Given the description of an element on the screen output the (x, y) to click on. 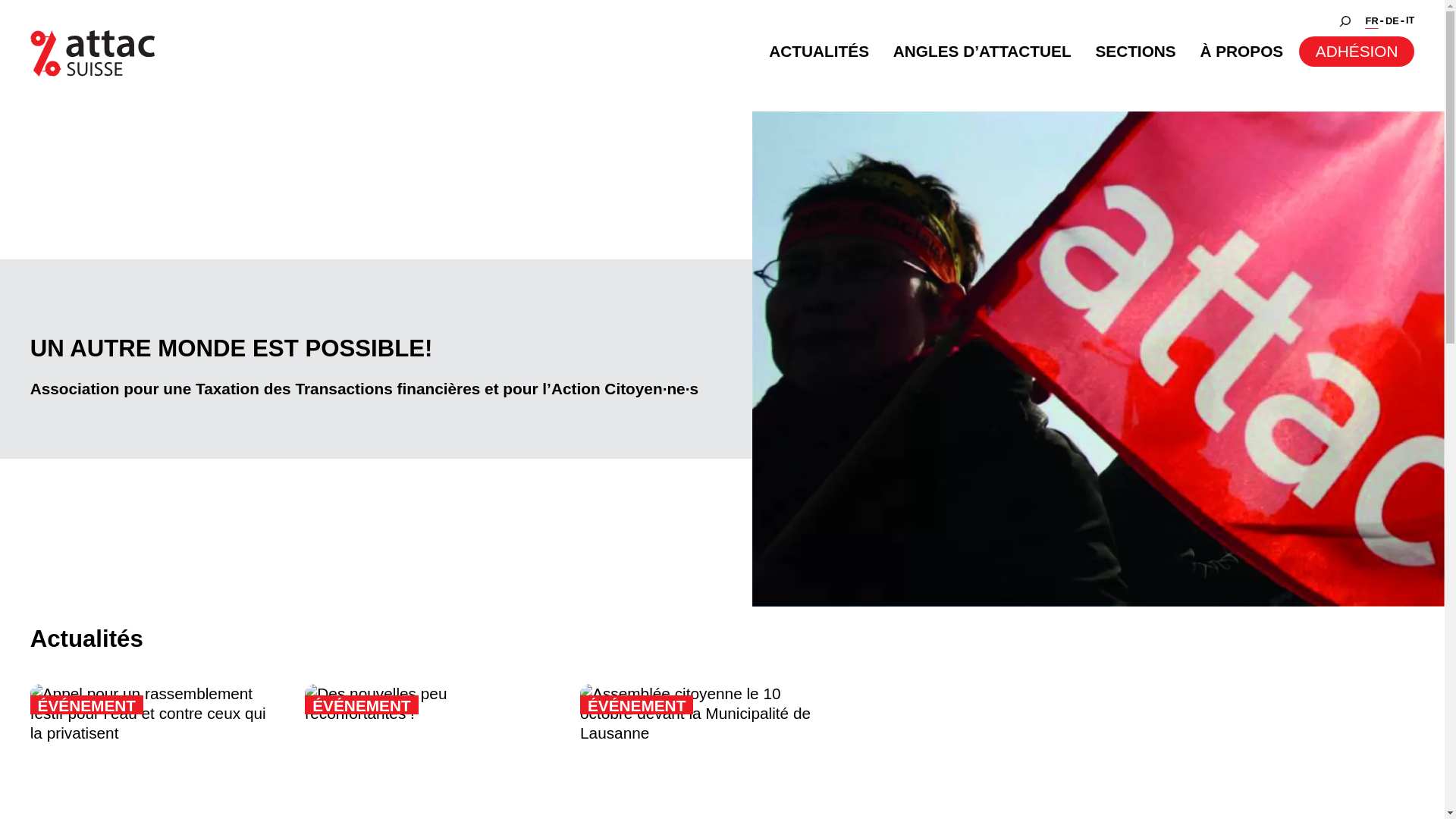
DE Element type: text (1392, 21)
SECTIONS Element type: text (1135, 51)
IT Element type: text (1409, 20)
